Given the description of an element on the screen output the (x, y) to click on. 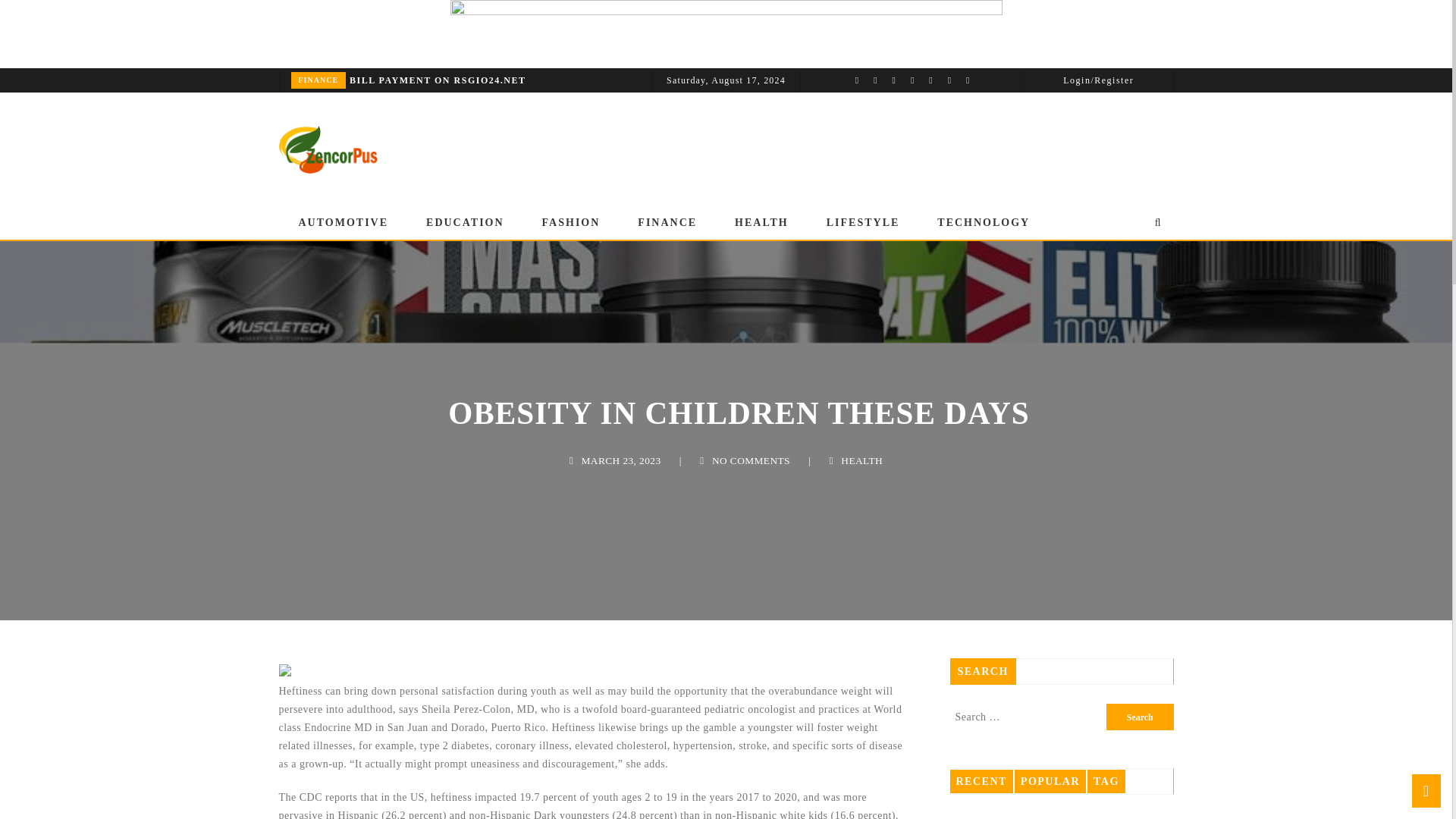
EDUCATION (464, 222)
FINANCE (318, 80)
LIFESTYLE (863, 222)
FASHION (571, 222)
View all posts in Finance (318, 80)
AUTOMOTIVE (343, 222)
HEALTH (762, 222)
BILL PAYMENT ON RSGIO24.NET (464, 79)
Search (1139, 716)
FINANCE (667, 222)
